Given the description of an element on the screen output the (x, y) to click on. 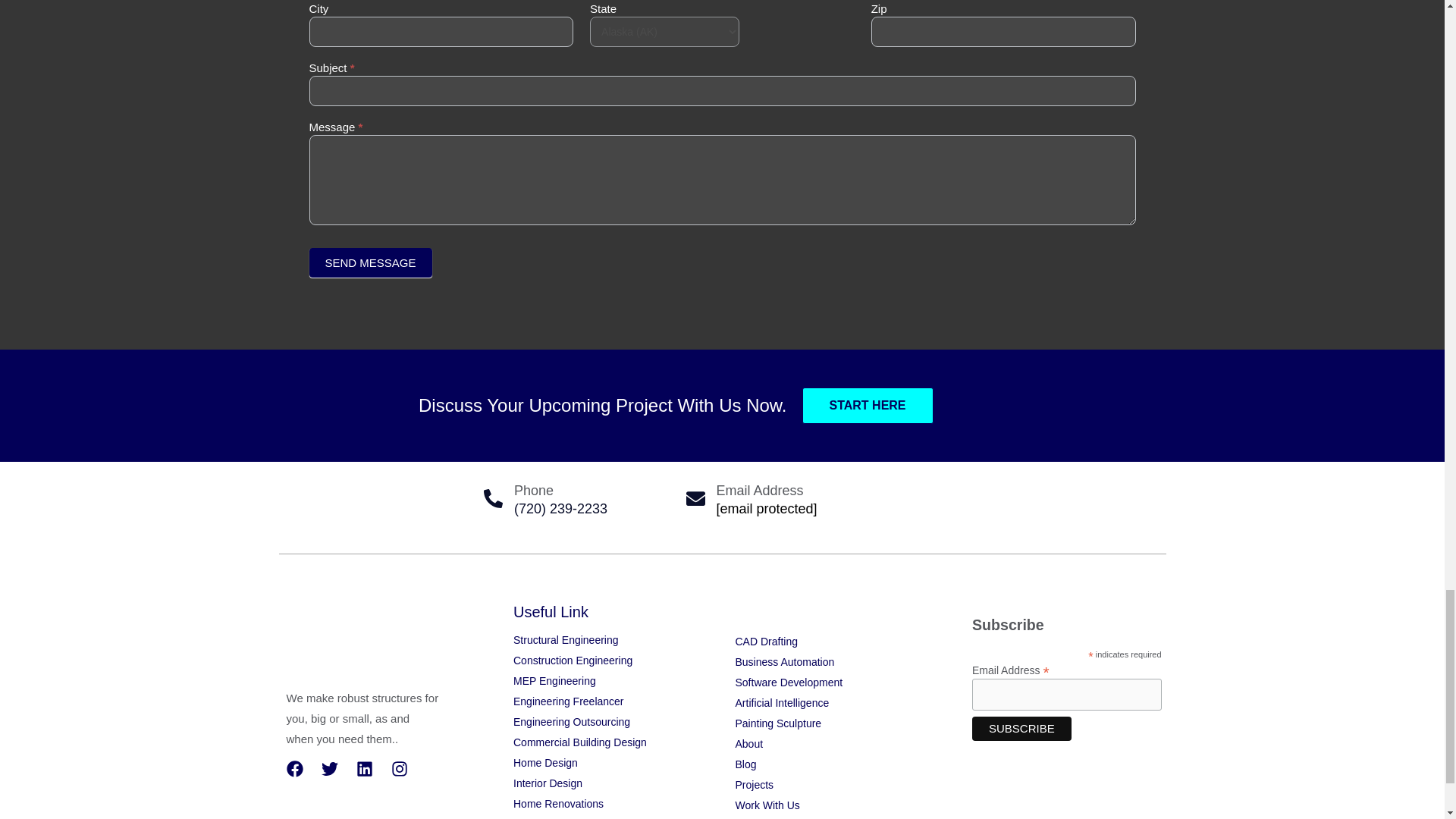
Subscribe (1021, 728)
